Given the description of an element on the screen output the (x, y) to click on. 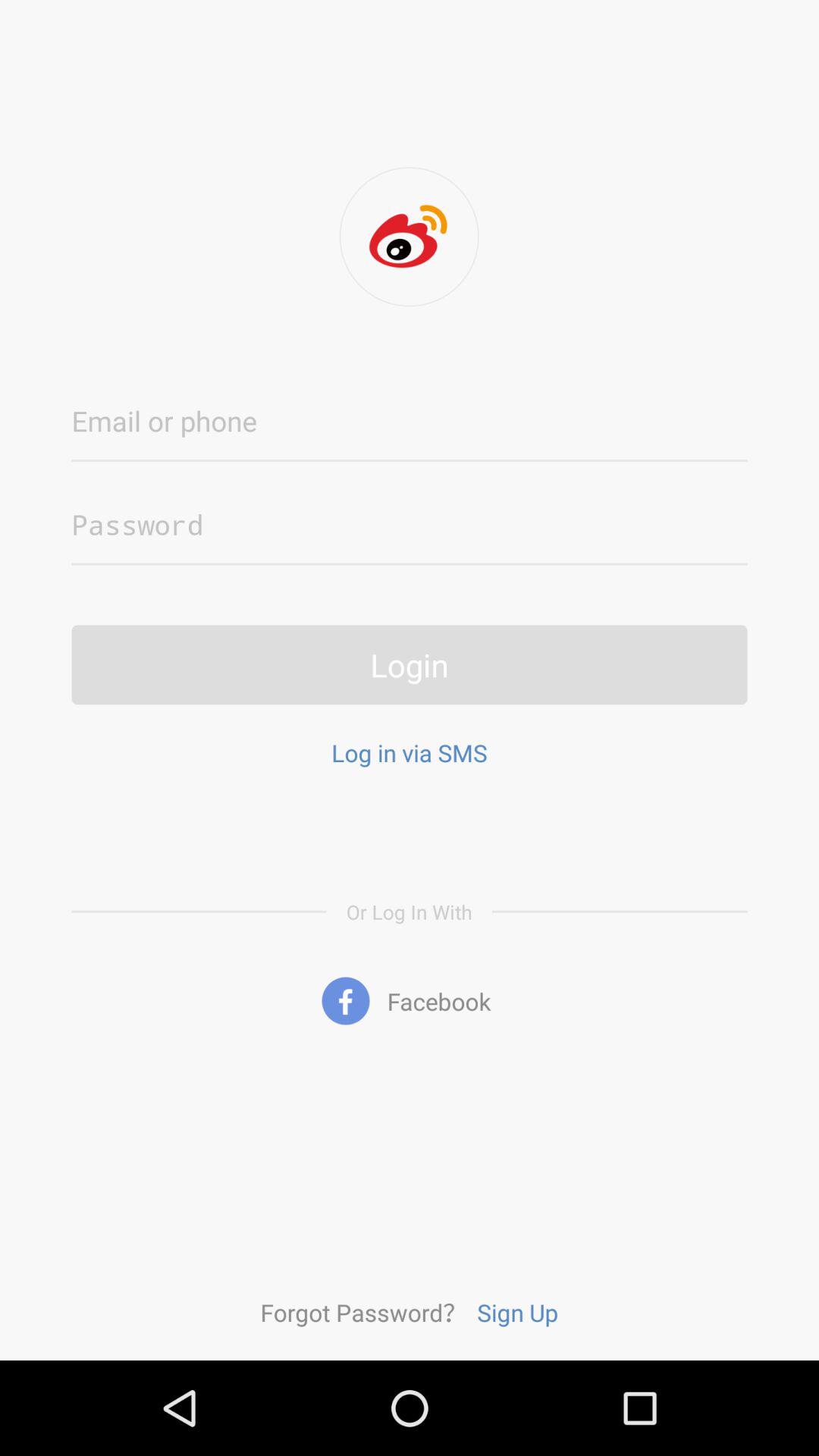
swipe to sign up item (517, 1312)
